Given the description of an element on the screen output the (x, y) to click on. 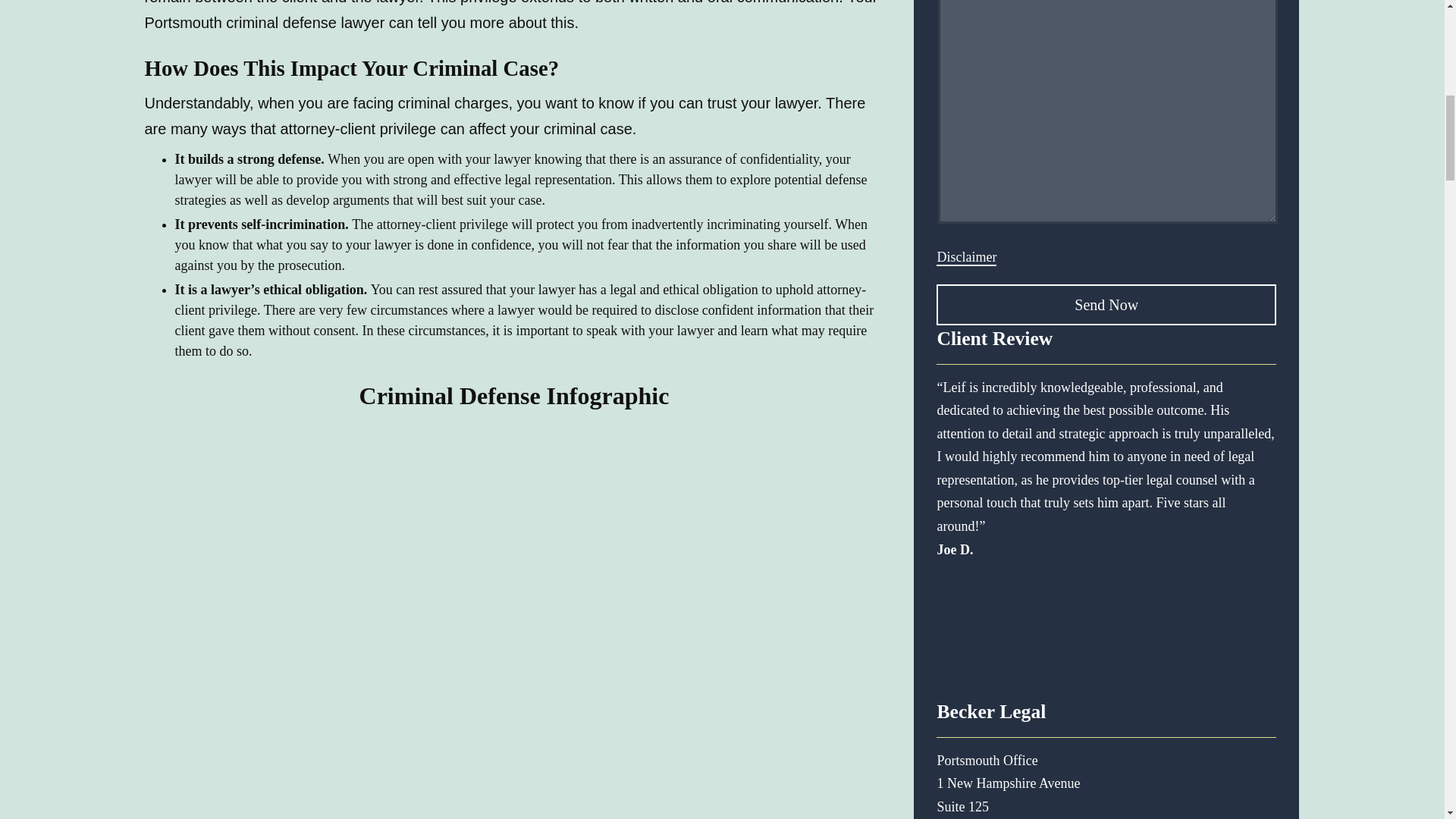
Send Now (1105, 304)
Send Now (1105, 304)
